Given the description of an element on the screen output the (x, y) to click on. 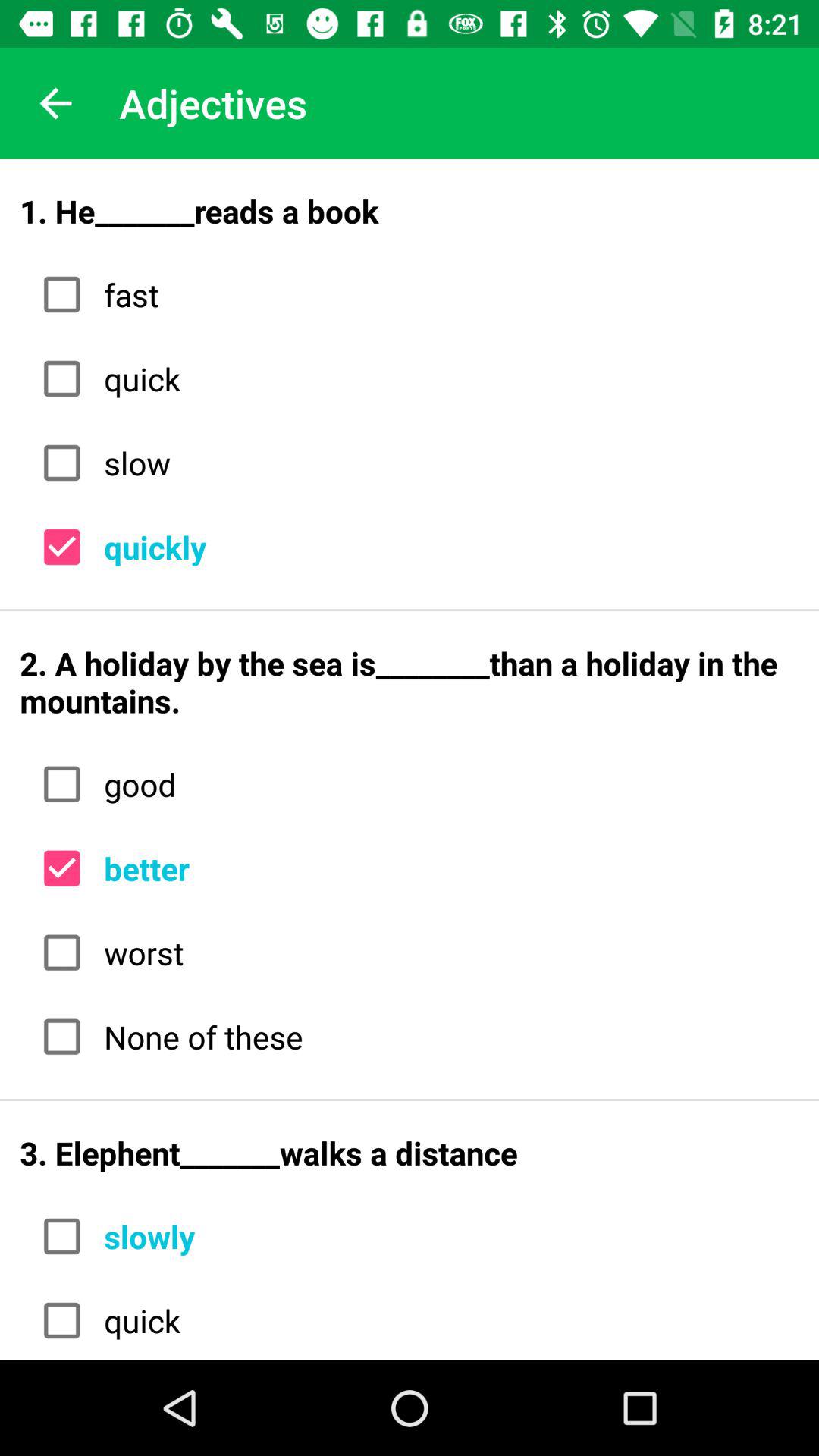
open the fast (446, 294)
